Given the description of an element on the screen output the (x, y) to click on. 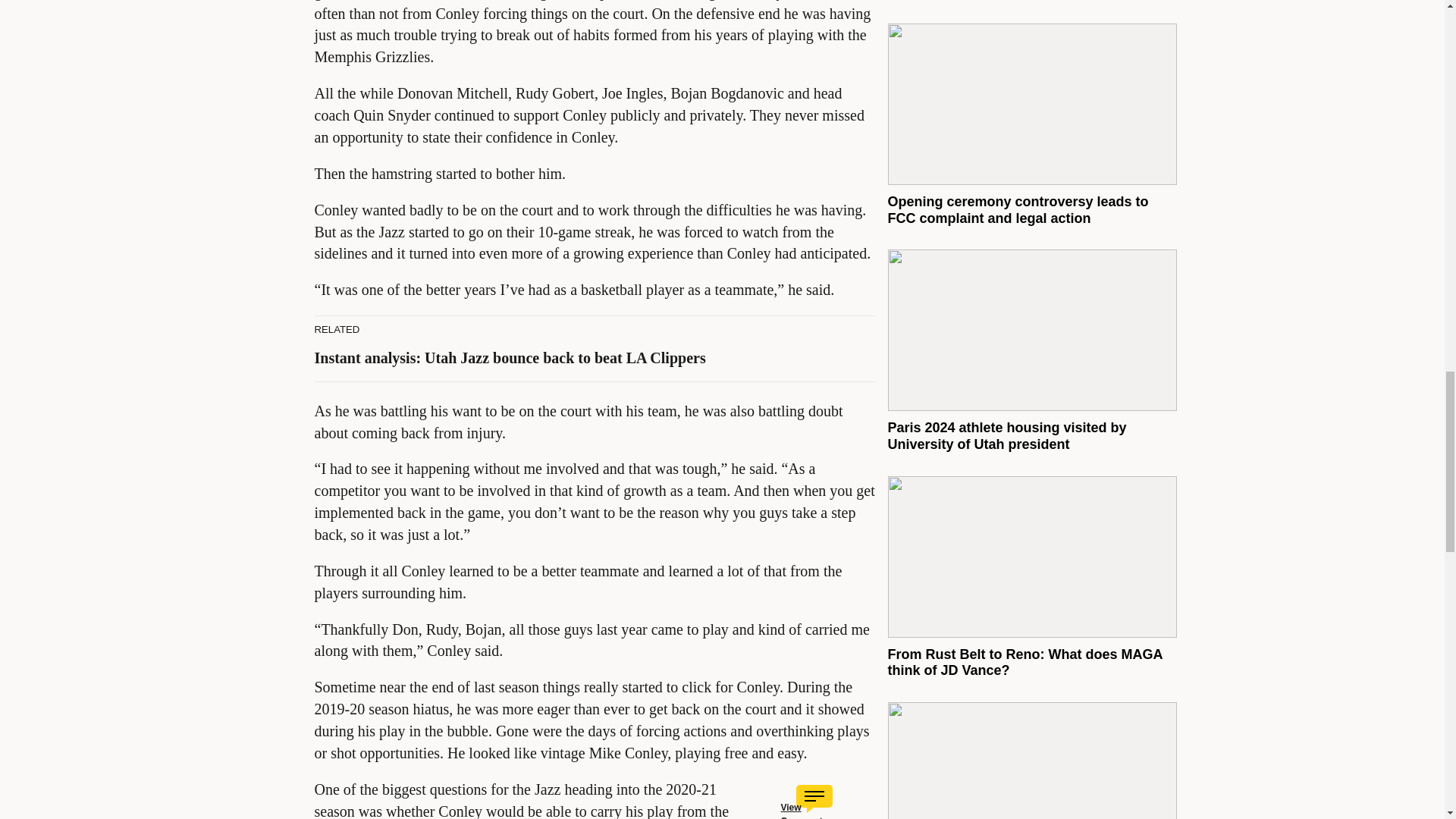
Instant analysis: Utah Jazz bounce back to beat LA Clippers (509, 357)
